Given the description of an element on the screen output the (x, y) to click on. 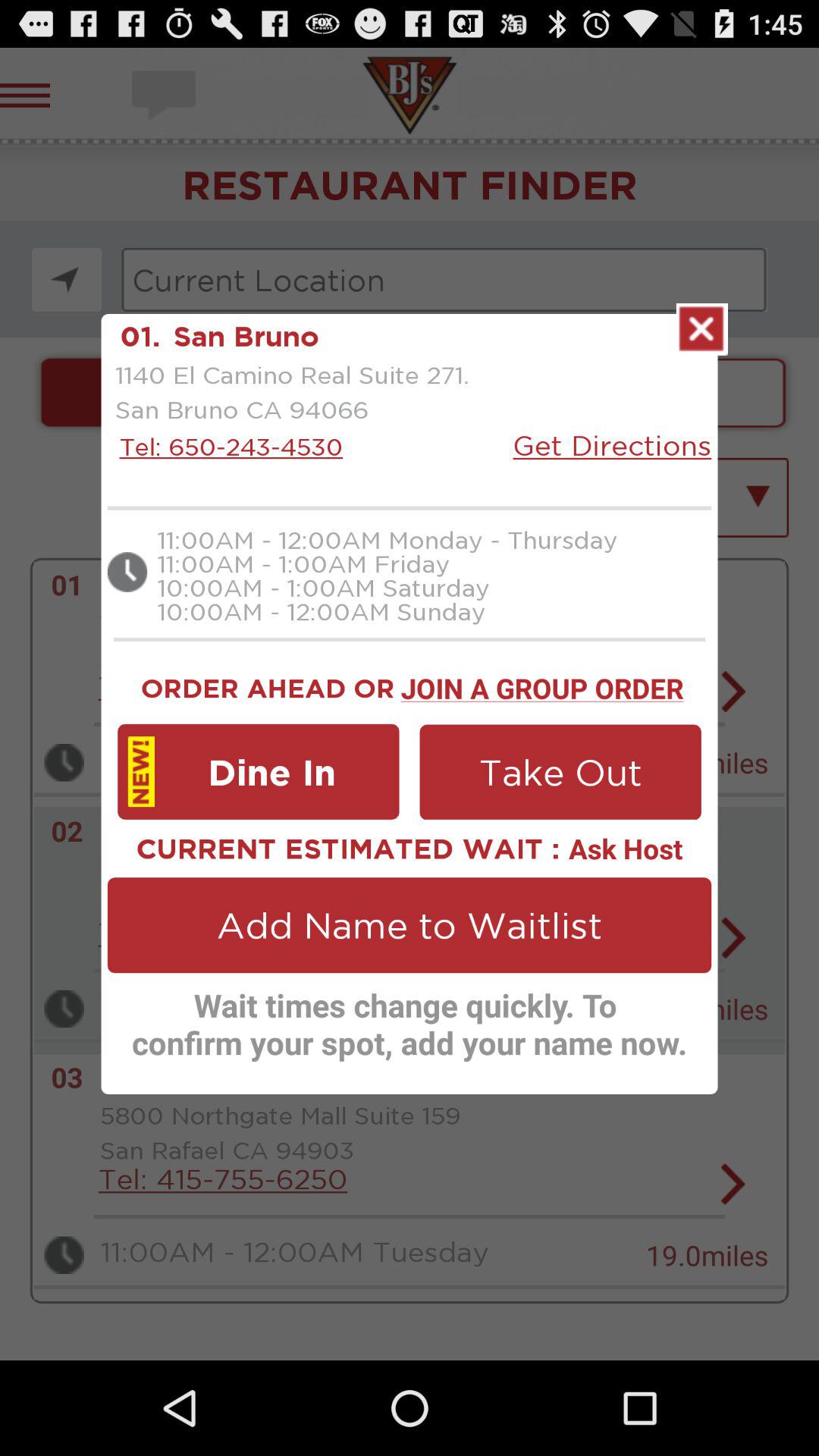
choose the icon next to the 1140 el camino app (612, 444)
